Given the description of an element on the screen output the (x, y) to click on. 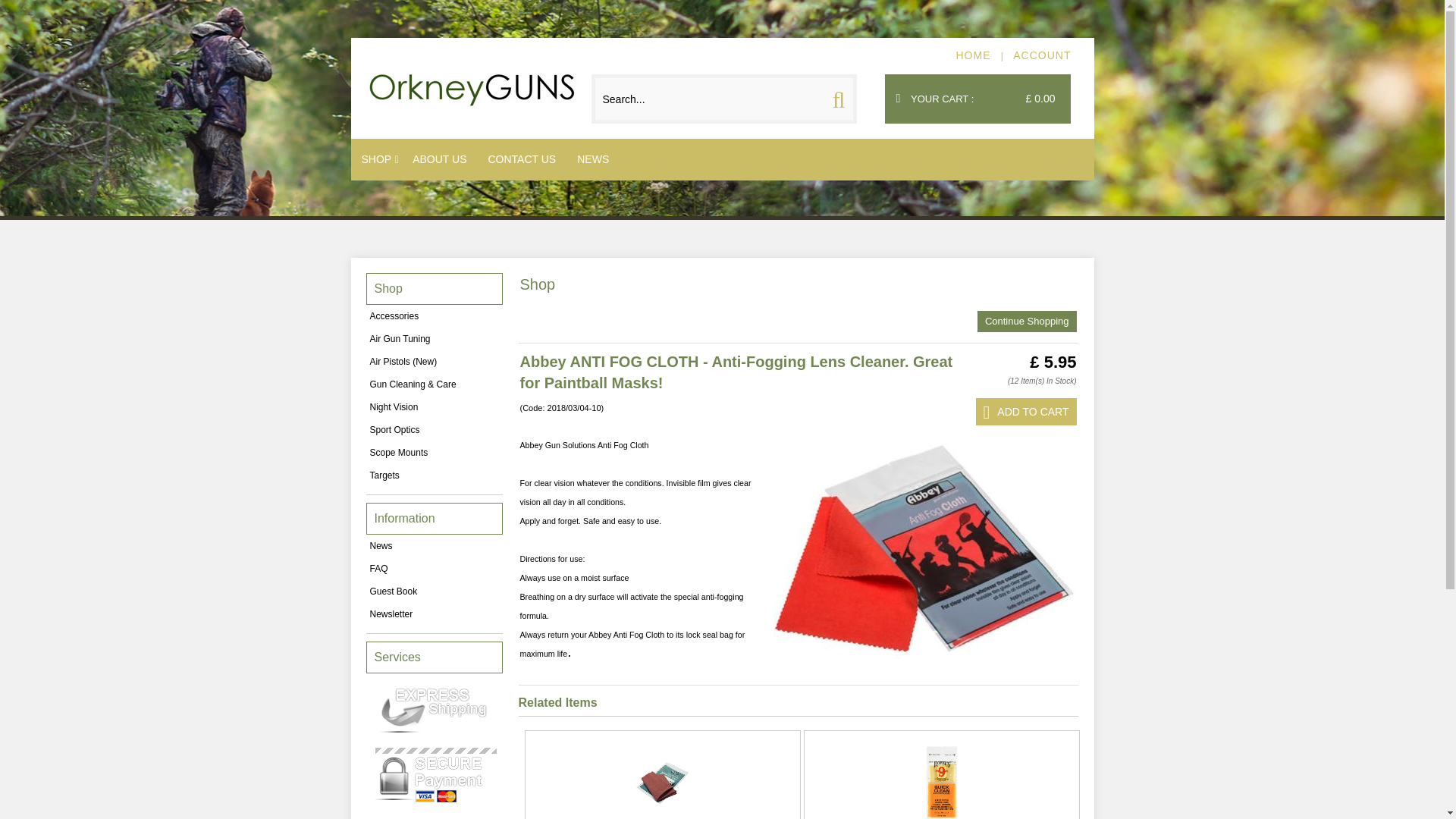
Newsletter (433, 613)
Scope Mounts (433, 452)
Night Vision (433, 406)
Guest Book (433, 590)
Air Gun Tuning (433, 338)
ABOUT US (439, 159)
YOUR CART (942, 98)
Search... (709, 98)
FAQ (433, 568)
ACCOUNT (1041, 55)
